Given the description of an element on the screen output the (x, y) to click on. 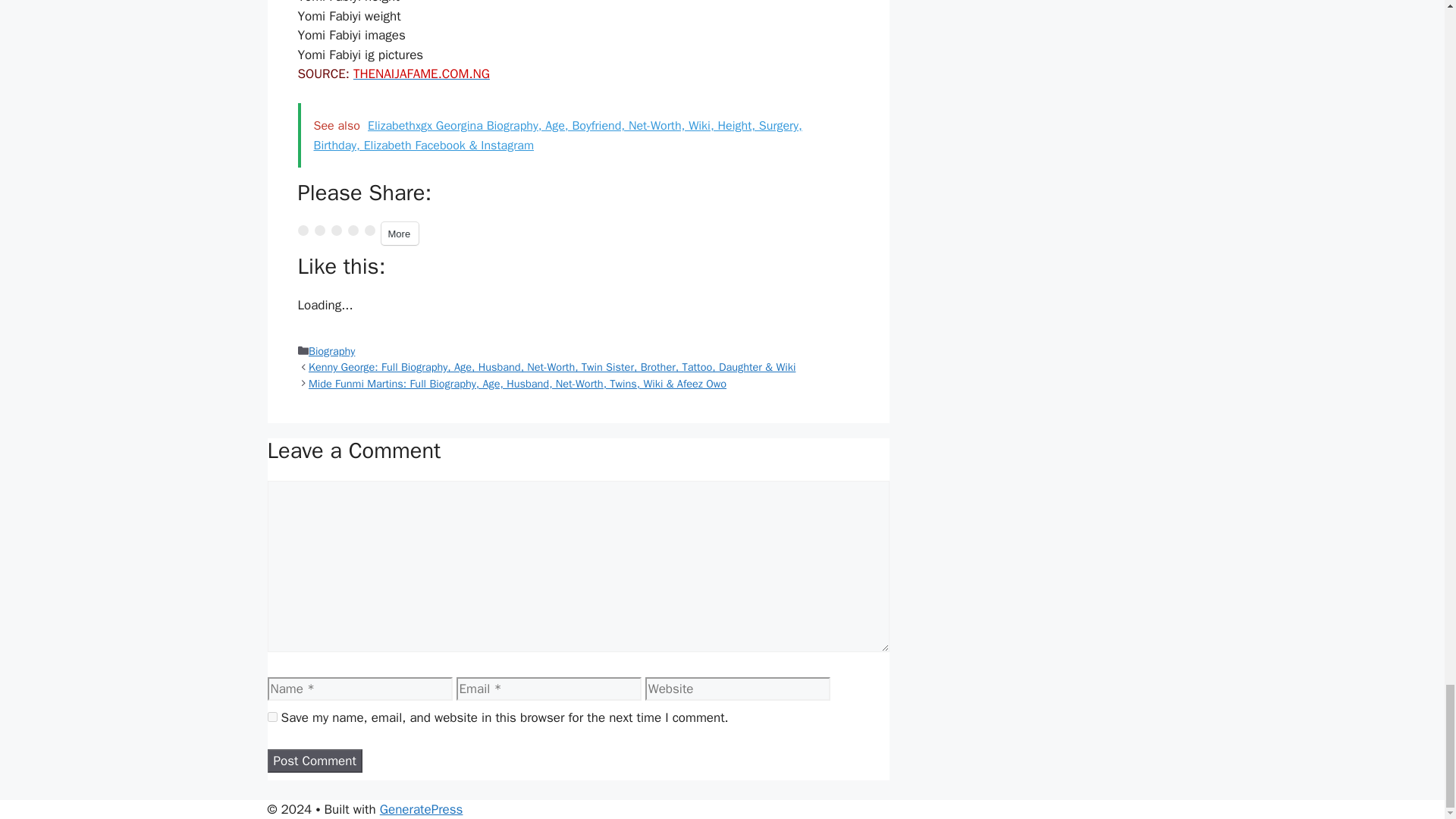
Click to share on Pinterest (335, 230)
Click to share on Twitter (302, 230)
Post Comment (313, 761)
Post Comment (313, 761)
yes (271, 716)
Click to share on Facebook (319, 230)
Click to share on WhatsApp (369, 230)
THENAIJAFAME.COM.NG (421, 73)
Biography (331, 350)
Click to share on Telegram (352, 230)
More (399, 232)
